Given the description of an element on the screen output the (x, y) to click on. 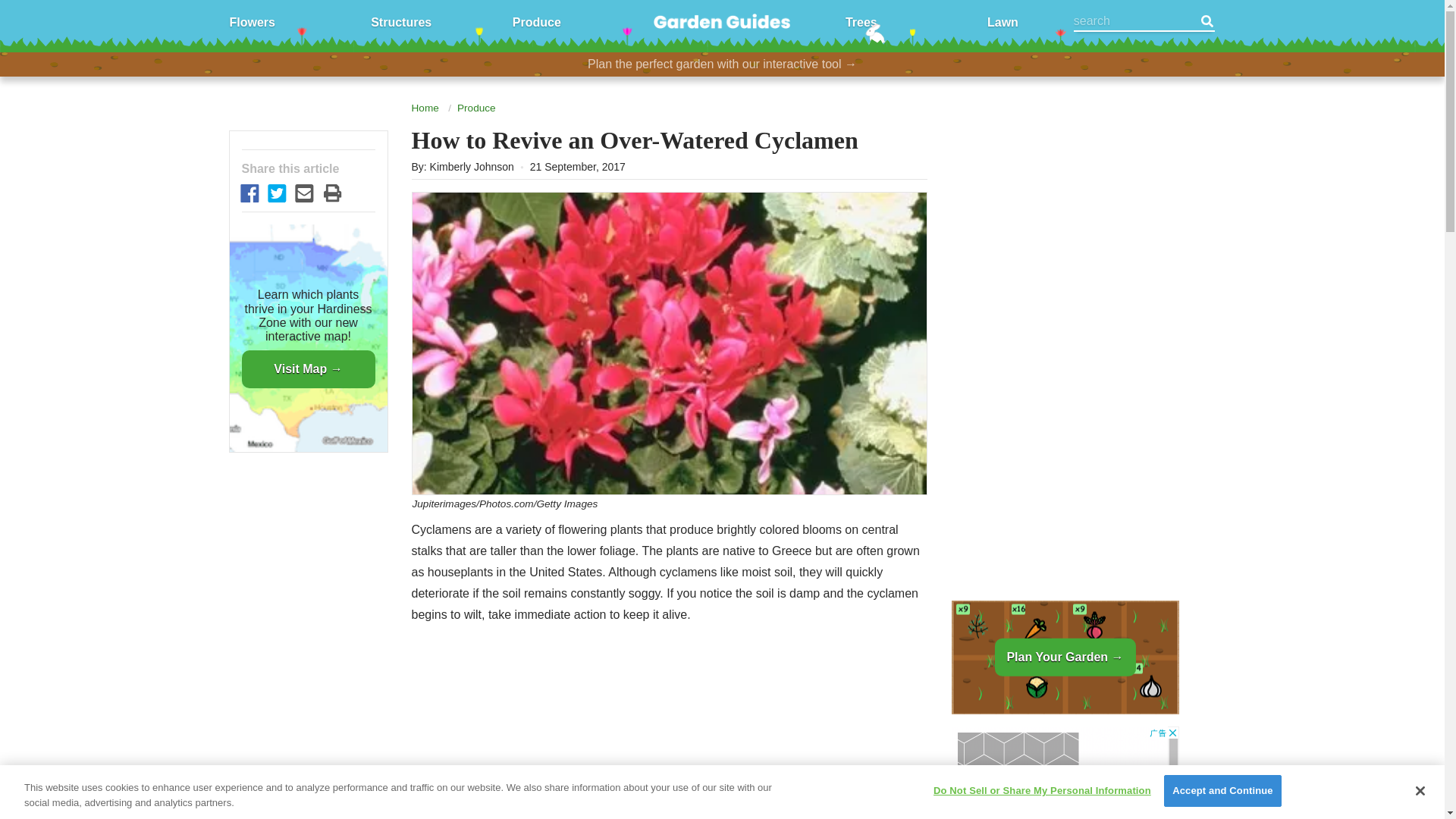
Produce (536, 21)
Trees (861, 21)
3rd party ad content (1063, 227)
Home (424, 107)
Lawn (1002, 21)
3rd party ad content (1063, 772)
3rd party ad content (668, 734)
Flowers (251, 21)
Produce (476, 107)
Structures (400, 21)
